Given the description of an element on the screen output the (x, y) to click on. 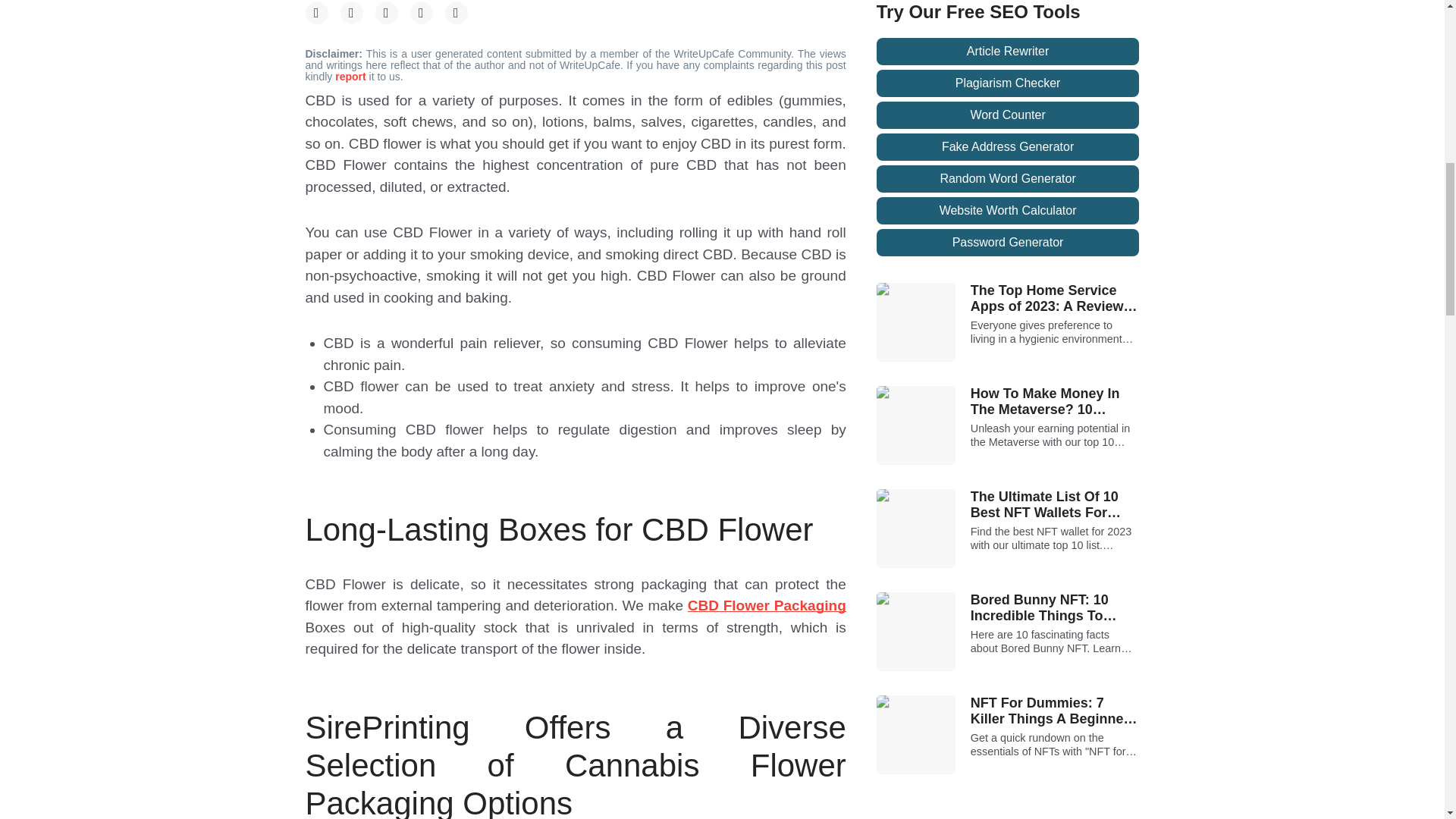
The Top Home Service Apps of 2023: A Review and Comparison (1055, 298)
Random Word Generator (1008, 178)
Plagiarism Checker (1008, 83)
Article Rewriter (1008, 51)
CBD Flower Packaging (766, 605)
The Ultimate List Of 10 Best NFT Wallets For 2023 (1055, 504)
Password Generator (1008, 242)
